Given the description of an element on the screen output the (x, y) to click on. 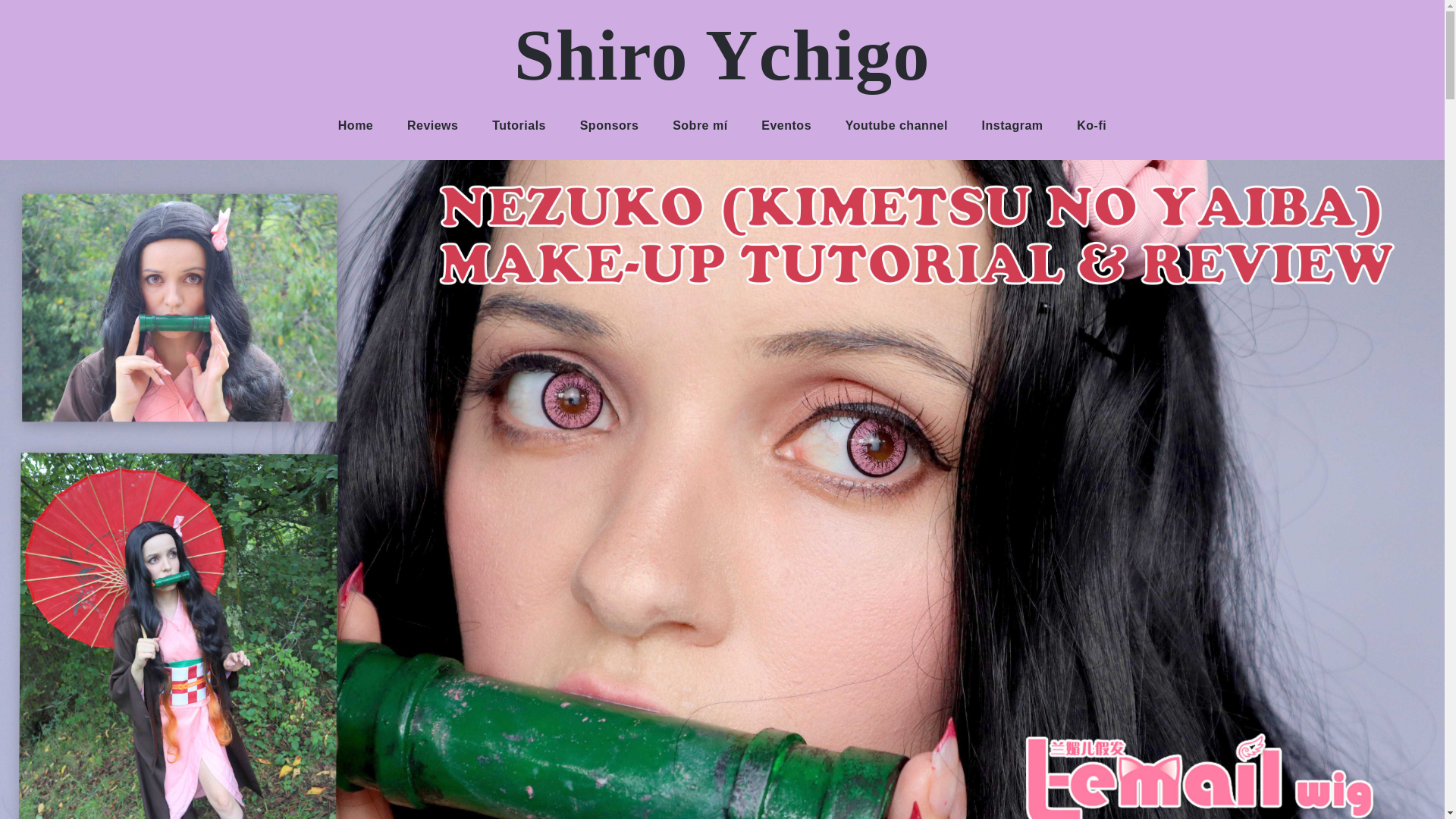
Tutorials (518, 125)
Youtube channel (895, 125)
Shiro Ychigo (721, 54)
Sponsors (608, 125)
Home (355, 125)
Instagram (1012, 125)
Reviews (432, 125)
Eventos (786, 125)
